Given the description of an element on the screen output the (x, y) to click on. 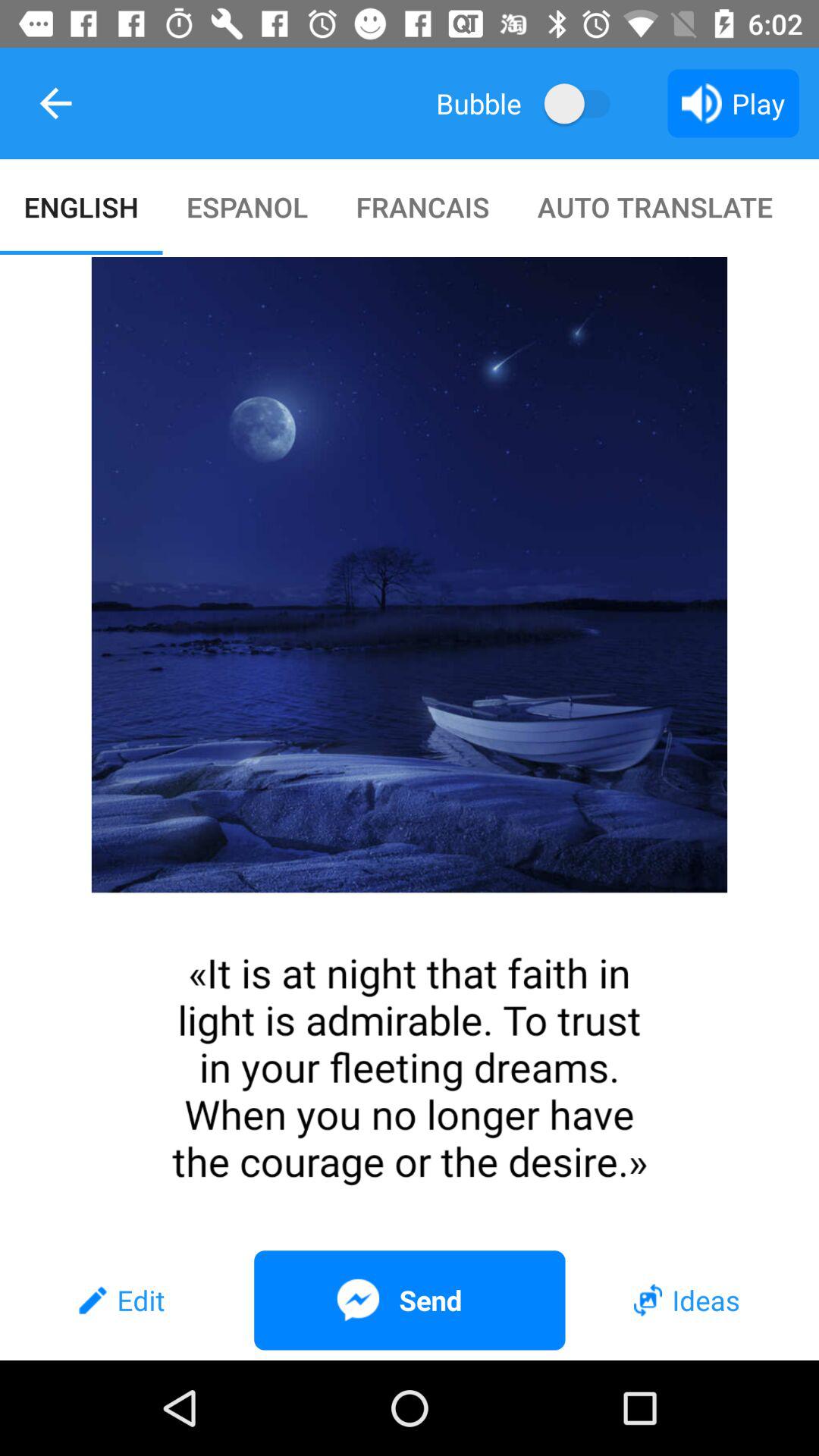
launch the item to the left of bubble icon (55, 103)
